Given the description of an element on the screen output the (x, y) to click on. 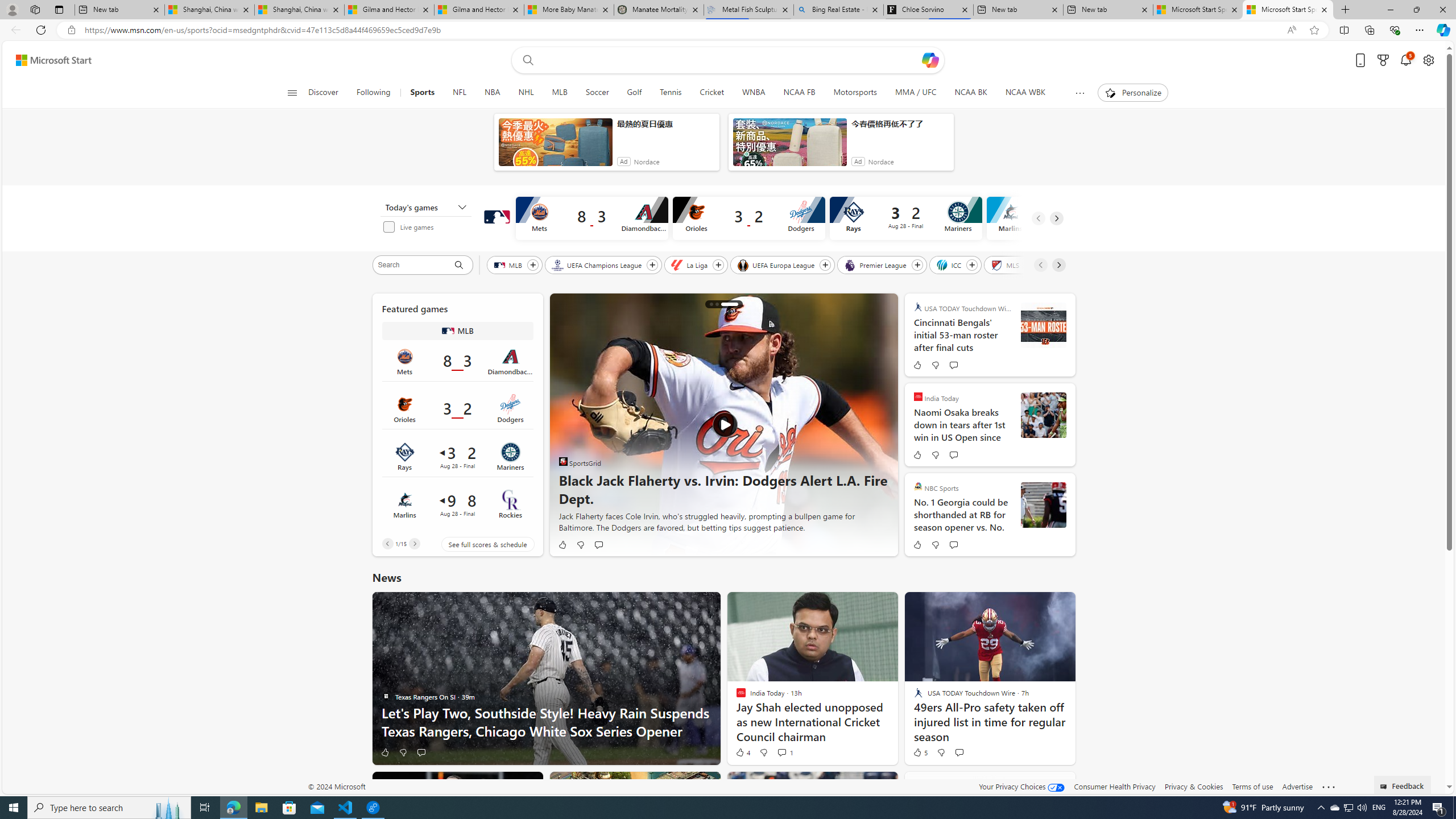
Today's games (425, 207)
Mets 8 vs Diamondbacks 3Time 9:40 AM  (456, 360)
Black Jack Flaherty vs. Irvin: Dodgers Alert L.A. Fire Dept. (729, 304)
Following (373, 92)
Consumer Health Privacy (1115, 785)
Privacy & Cookies (1193, 786)
Follow MLB (532, 265)
Your Privacy Choices (1021, 785)
Discover (322, 92)
